Given the description of an element on the screen output the (x, y) to click on. 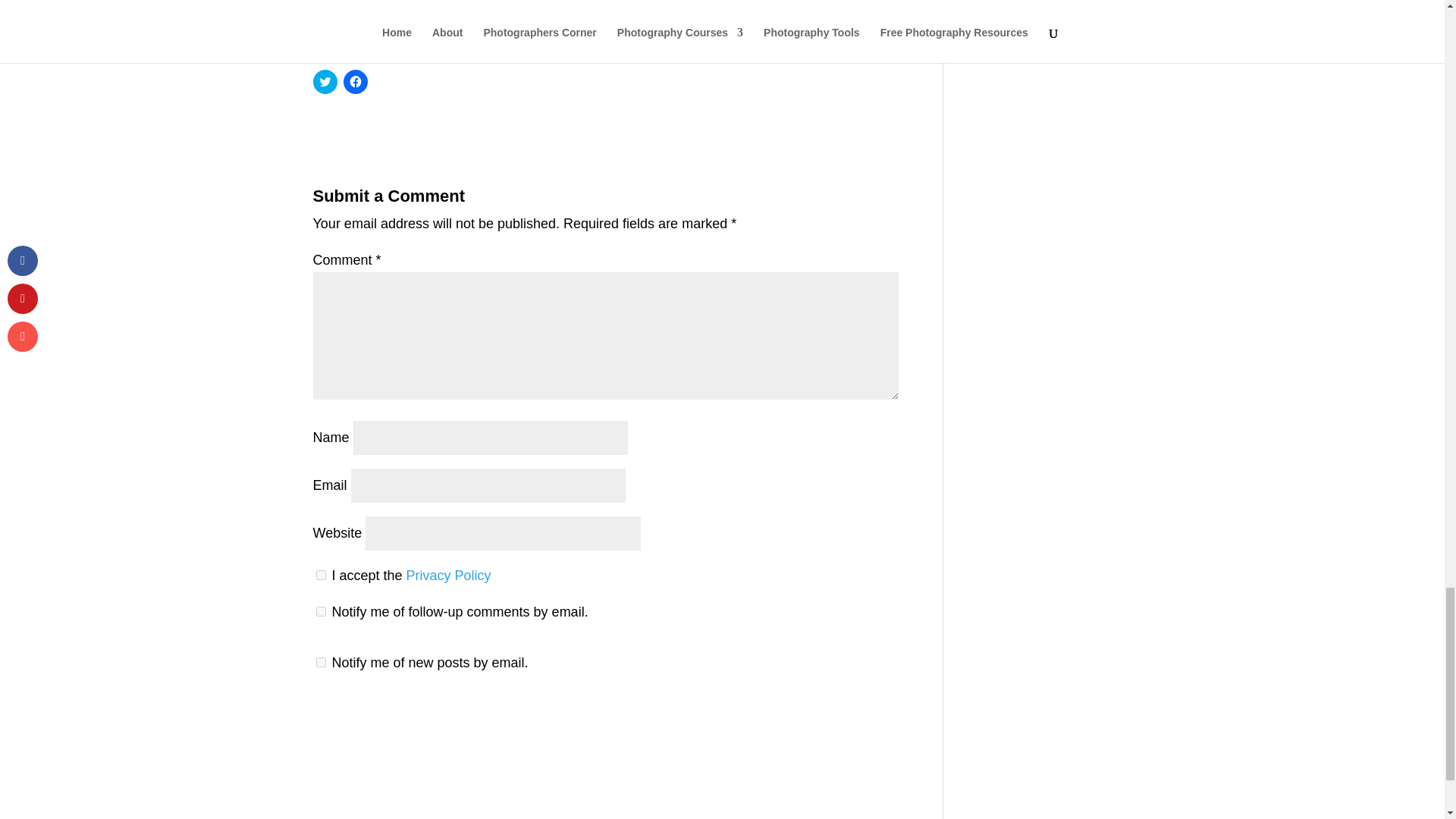
Submit Comment (823, 720)
Privacy Policy (449, 575)
Submit Comment (823, 720)
1 (319, 574)
subscribe (319, 662)
subscribe (319, 611)
Facebook (381, 8)
Like 1 (679, 8)
Pinterest (529, 8)
